Given the description of an element on the screen output the (x, y) to click on. 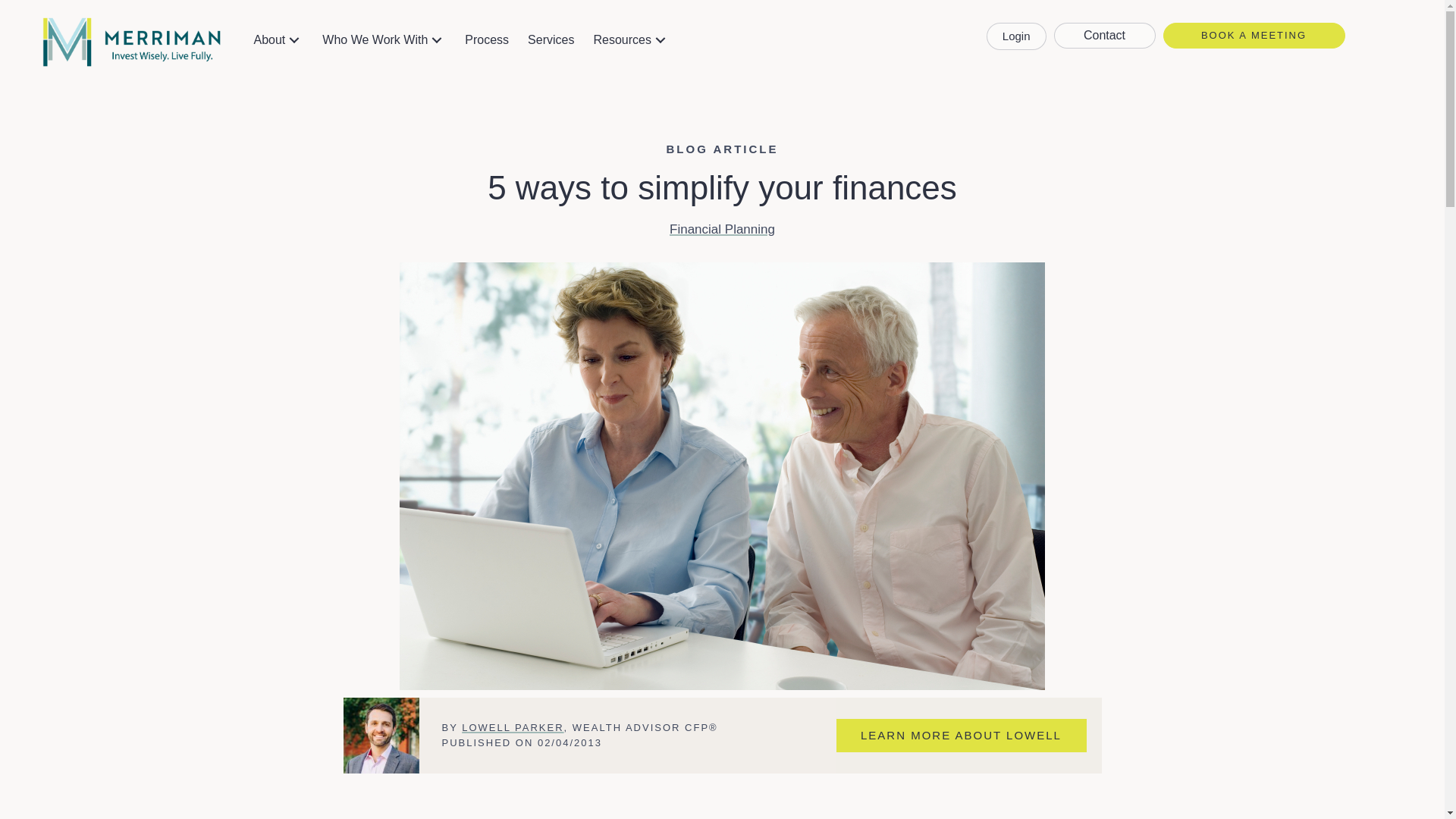
merriman-wealth-management-logo (131, 41)
Services (549, 39)
Process (486, 39)
Who We Work With (383, 39)
Resources (631, 39)
Lowell Parker (380, 735)
About (278, 39)
